Given the description of an element on the screen output the (x, y) to click on. 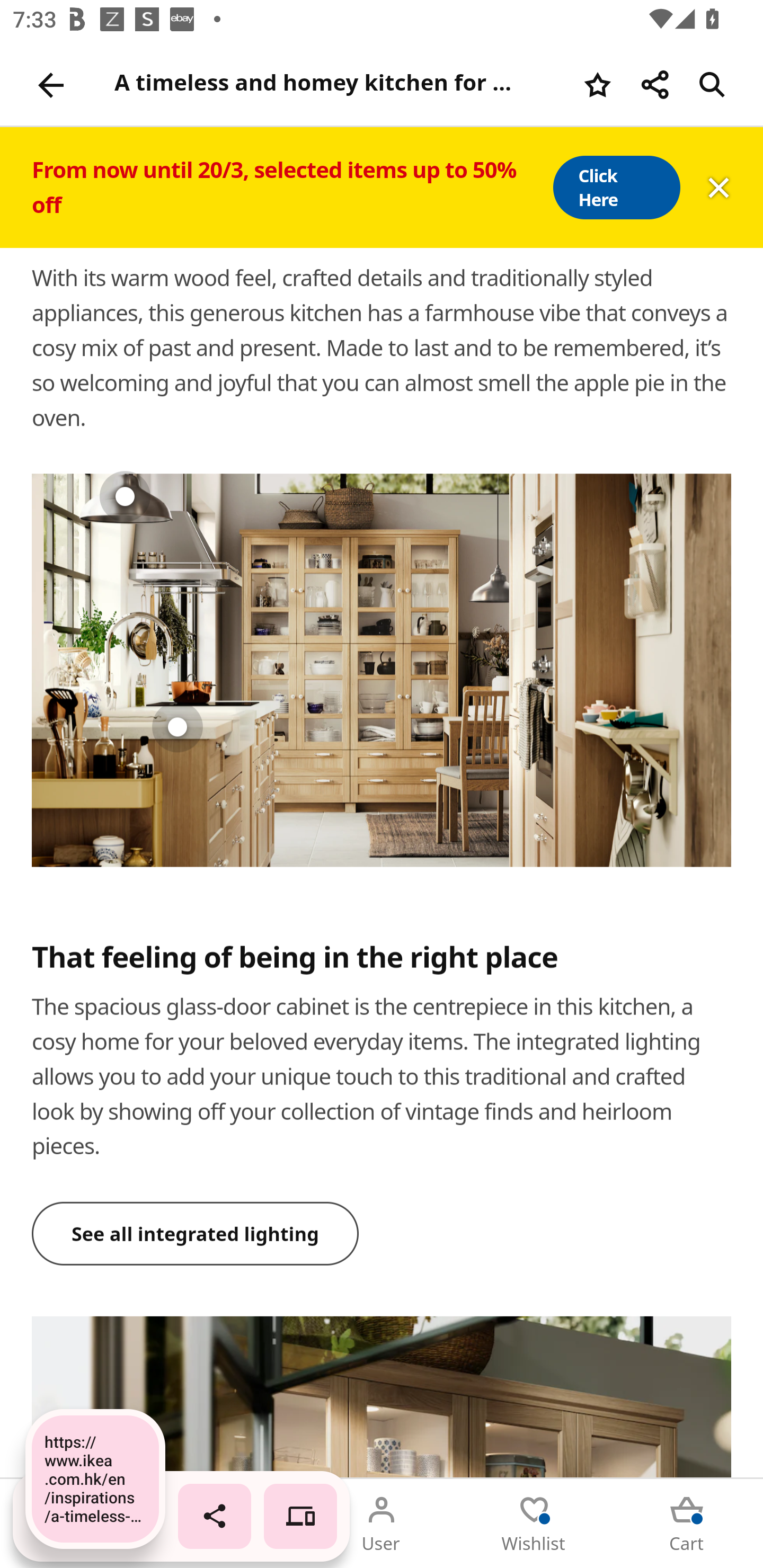
Click Here (615, 187)
See all integrated lighting (195, 1233)
User
Tab 3 of 5 (381, 1522)
Wishlist
Tab 4 of 5 (533, 1522)
Cart
Tab 5 of 5 (686, 1522)
